Given the description of an element on the screen output the (x, y) to click on. 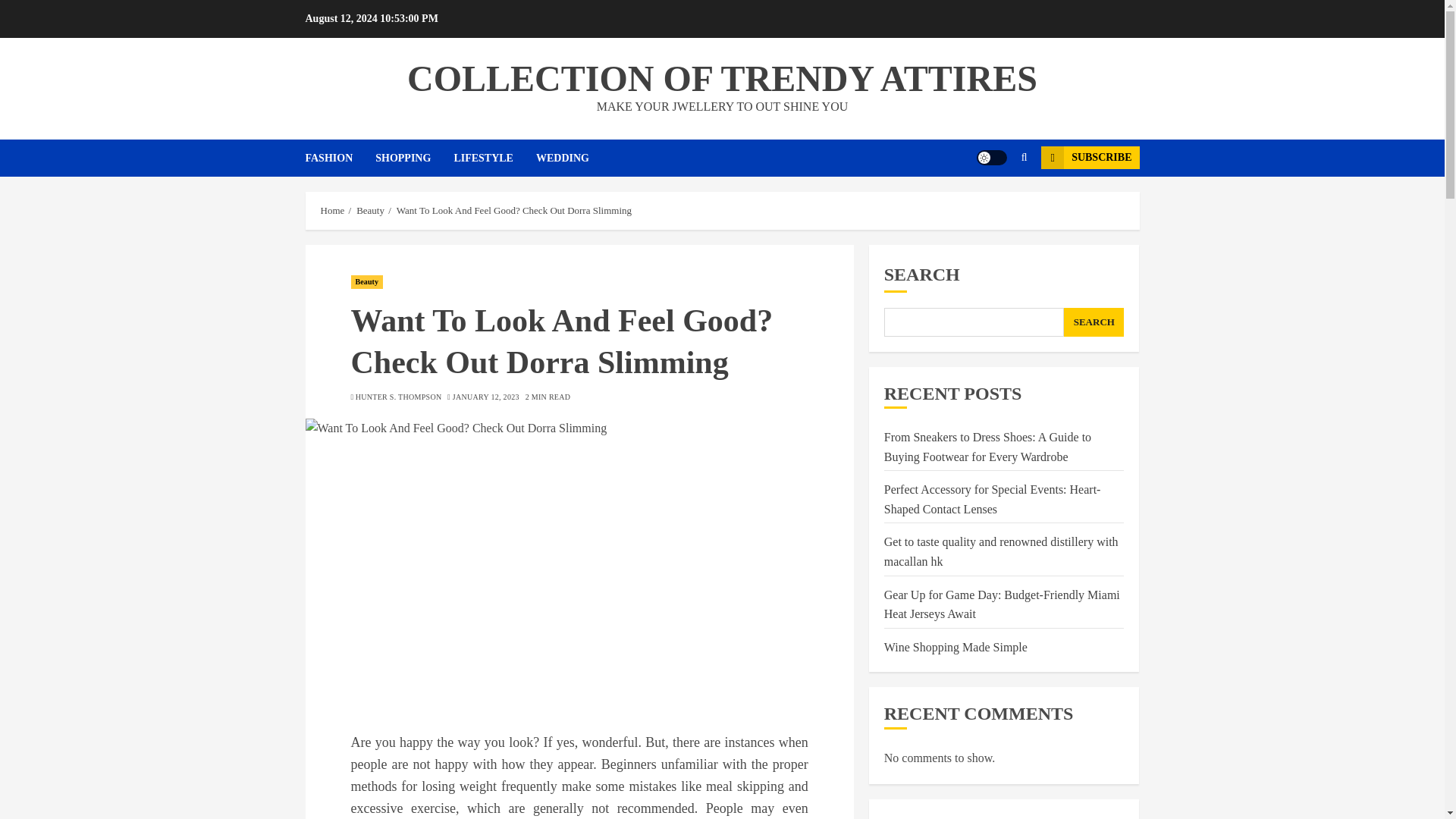
Beauty (366, 282)
COLLECTION OF TRENDY ATTIRES (721, 78)
FASHION (339, 157)
SHOPPING (413, 157)
HUNTER S. THOMPSON (398, 397)
Wine Shopping Made Simple (955, 647)
LIFESTYLE (493, 157)
